Given the description of an element on the screen output the (x, y) to click on. 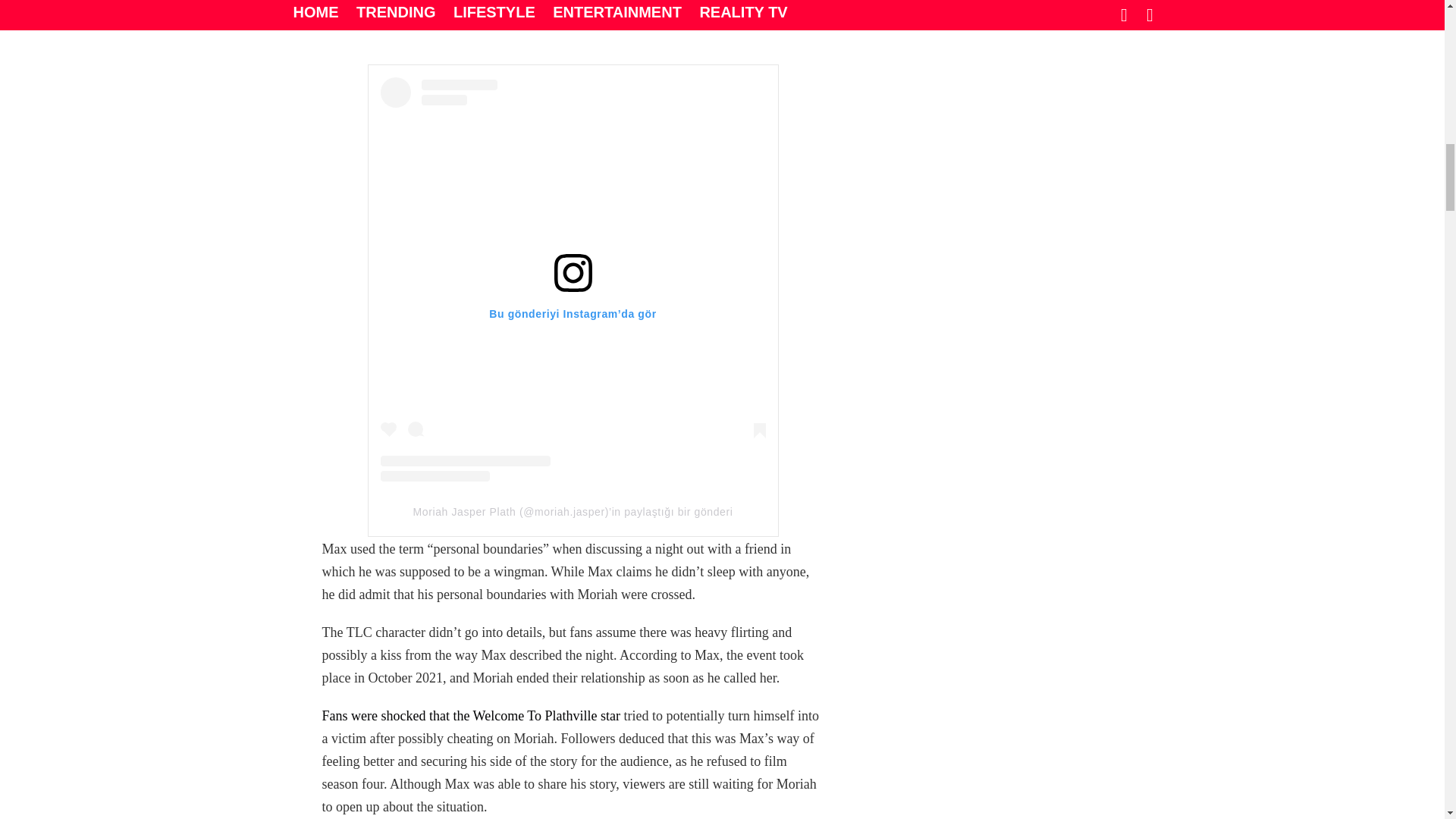
Fans were shocked that the Welcome To Plathville star (470, 715)
